Given the description of an element on the screen output the (x, y) to click on. 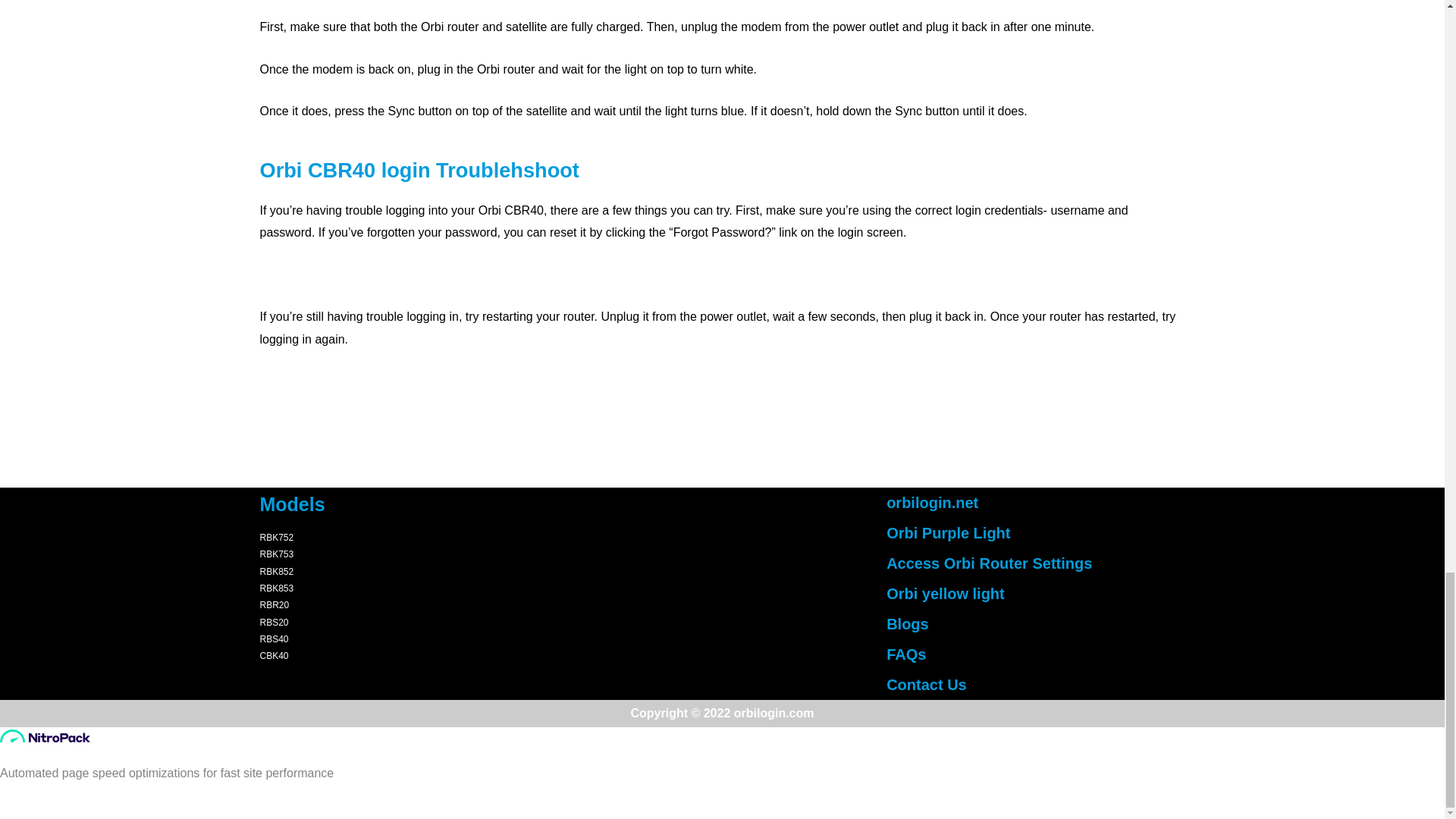
orbilogin.net (932, 502)
Orbi Purple Light (948, 532)
